Given the description of an element on the screen output the (x, y) to click on. 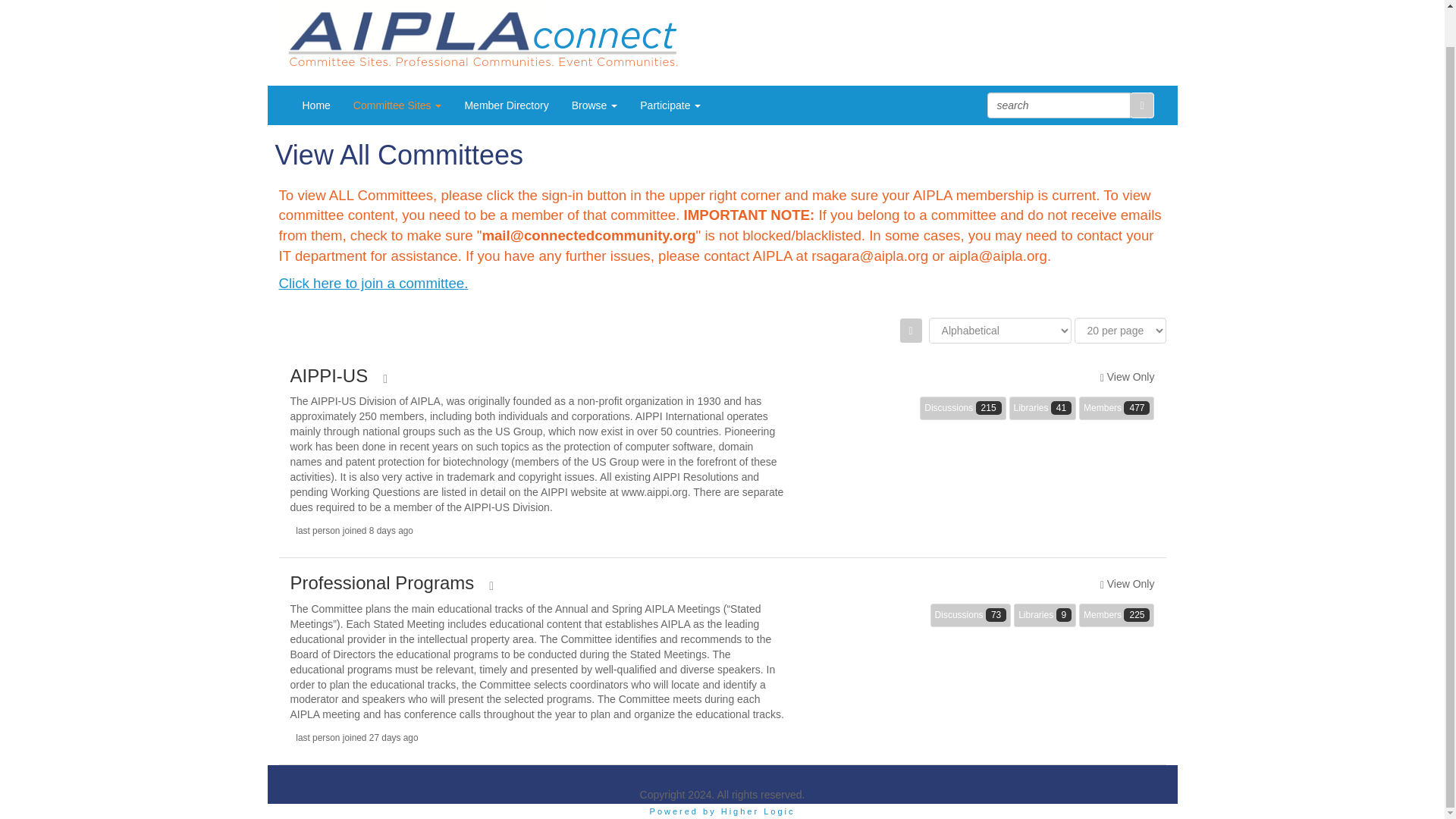
Professional Programs (381, 582)
search (1059, 104)
Members 477 (1116, 408)
Click here to join a committee. (373, 283)
Browse (594, 105)
last discussions posted 13 days ago (970, 615)
Home (316, 105)
Committee Sites (397, 105)
Discussions 215 (963, 408)
Participate (669, 105)
